Given the description of an element on the screen output the (x, y) to click on. 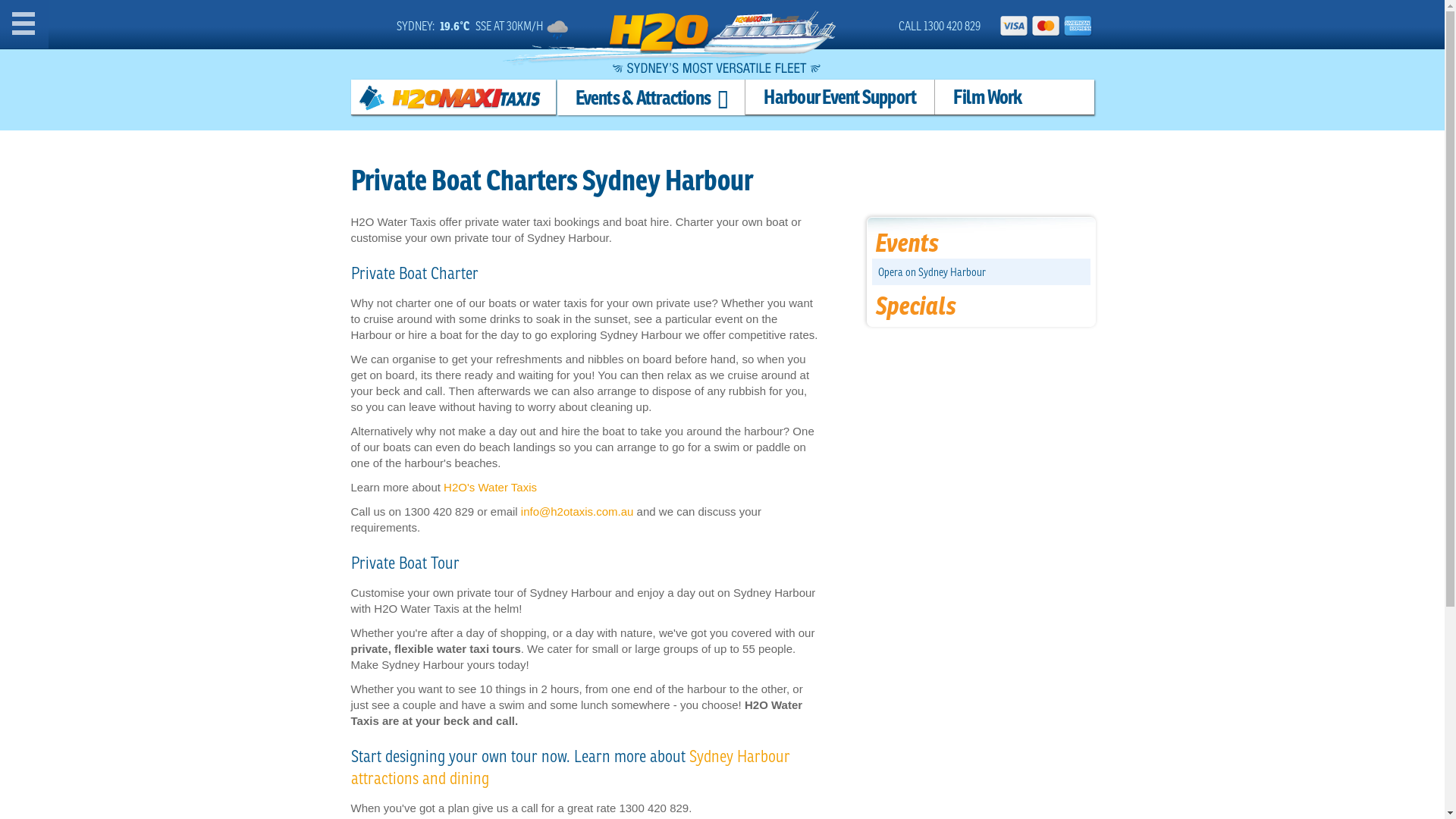
Our Fleet Element type: text (79, 631)
Island Function Packages Element type: text (79, 376)
Home Element type: text (79, 20)
Private Charter Element type: text (79, 266)
Sydney to Hobart Element type: text (79, 485)
Harbour Event Support Element type: text (79, 547)
Opera on Sydney Harbour Element type: text (931, 271)
Group Bookings Element type: text (79, 104)
Wharf Finder Element type: text (79, 145)
Contact us Element type: text (79, 797)
FAQ Element type: text (79, 755)
Harbour Event Support Element type: text (839, 96)
CALL 1300 420 829 Element type: text (939, 25)
Christmas Boat Transfers Element type: text (79, 403)
Photo Gallery Element type: text (79, 713)
Weddings Element type: text (79, 294)
Attractions, Food & Bars Element type: text (79, 212)
Barge Hire Element type: text (79, 672)
Instant Quote Element type: text (79, 62)
Film Work Element type: text (987, 96)
Opera on Sydney Harbour Element type: text (79, 239)
Sydney Harbour attractions and dining Element type: text (569, 766)
Sydney Harbour Beaches Element type: text (79, 321)
info@h2otaxis.com.au Element type: text (576, 511)
H2O's Water Taxis Element type: text (489, 486)
Film Work Element type: text (79, 589)
Australia Day Element type: text (79, 457)
Vivid Festival Element type: text (79, 512)
Events & Attractions Element type: text (650, 96)
Sydney Islands Element type: text (79, 348)
New Years Eve Element type: text (79, 430)
